Given the description of an element on the screen output the (x, y) to click on. 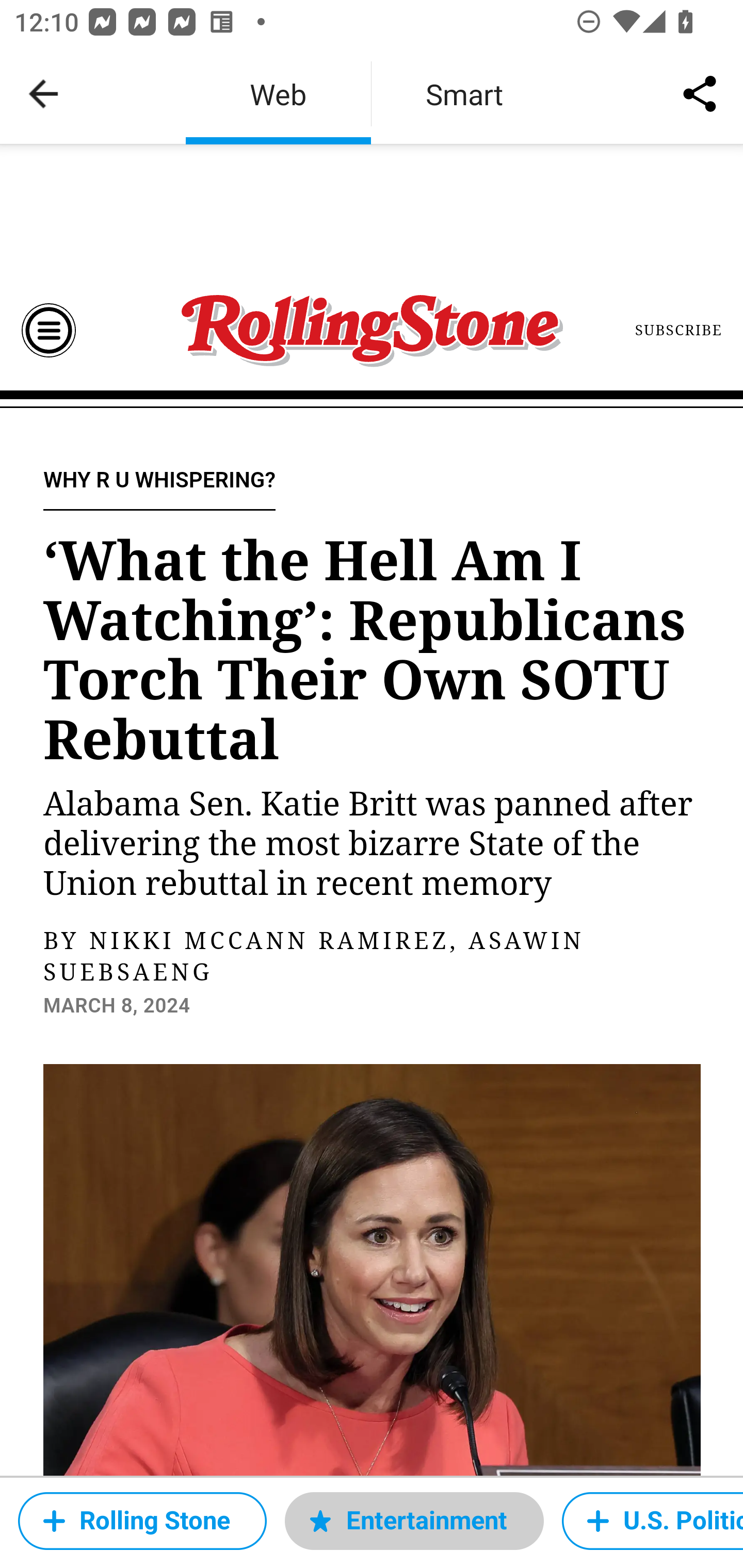
Web (277, 93)
Smart (464, 93)
Rollingstone Logo (371, 331)
Click to expand the Mega Menu (48, 329)
SUBSCRIBE (678, 329)
ASAWIN SUEBSAENG (314, 957)
Rolling Stone (141, 1520)
Entertainment (413, 1520)
U.S. Politics (652, 1520)
